Given the description of an element on the screen output the (x, y) to click on. 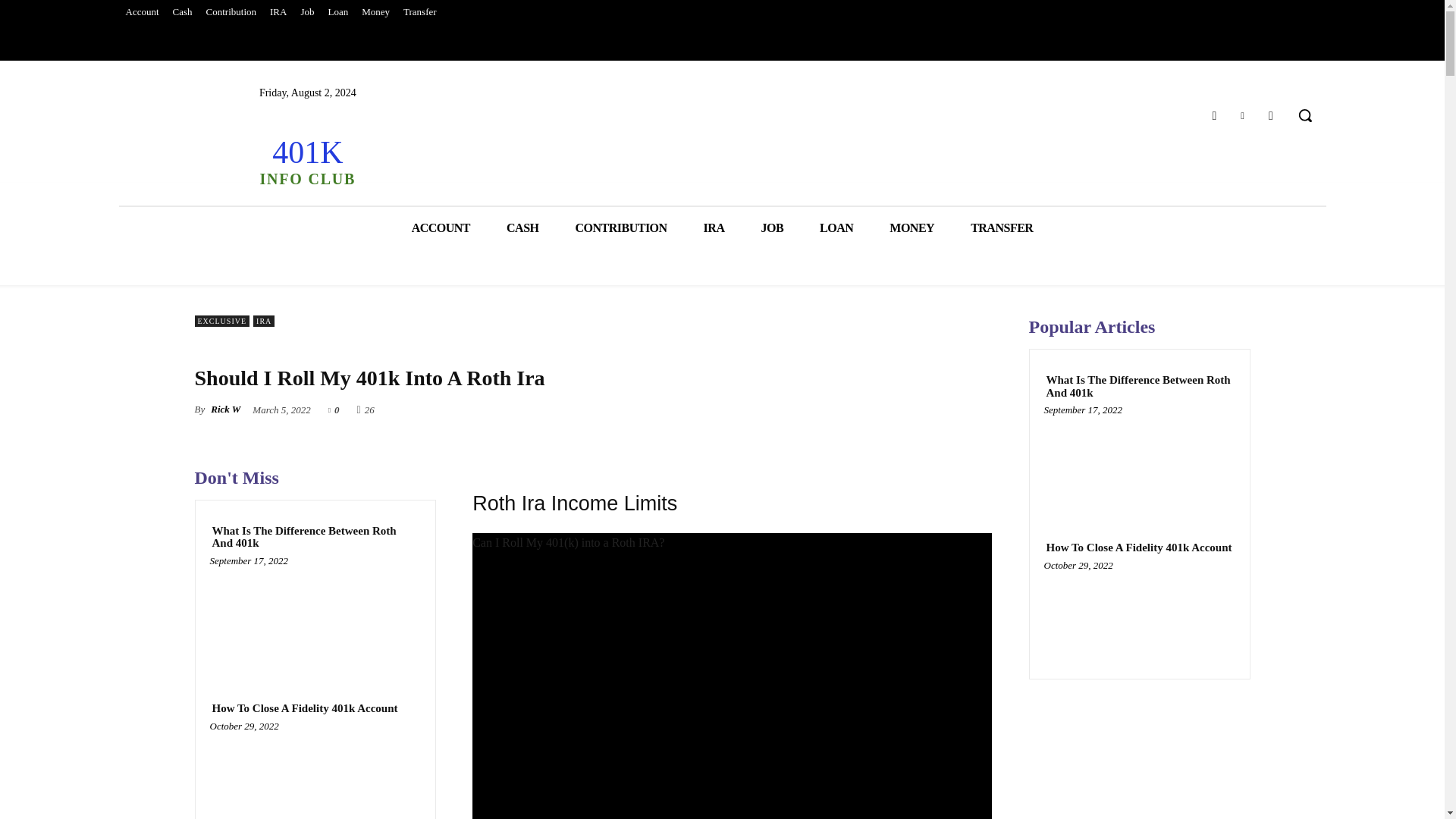
Money (375, 12)
MONEY (911, 227)
Job (307, 12)
LOAN (306, 160)
ACCOUNT (836, 227)
IRA (440, 227)
JOB (278, 12)
CASH (772, 227)
What Is The Difference Between Roth And 401k (521, 227)
What Is The Difference Between Roth And 401k (314, 616)
Facebook (314, 536)
Account (1214, 115)
Loan (141, 12)
How To Close A Fidelity 401k Account (337, 12)
